Given the description of an element on the screen output the (x, y) to click on. 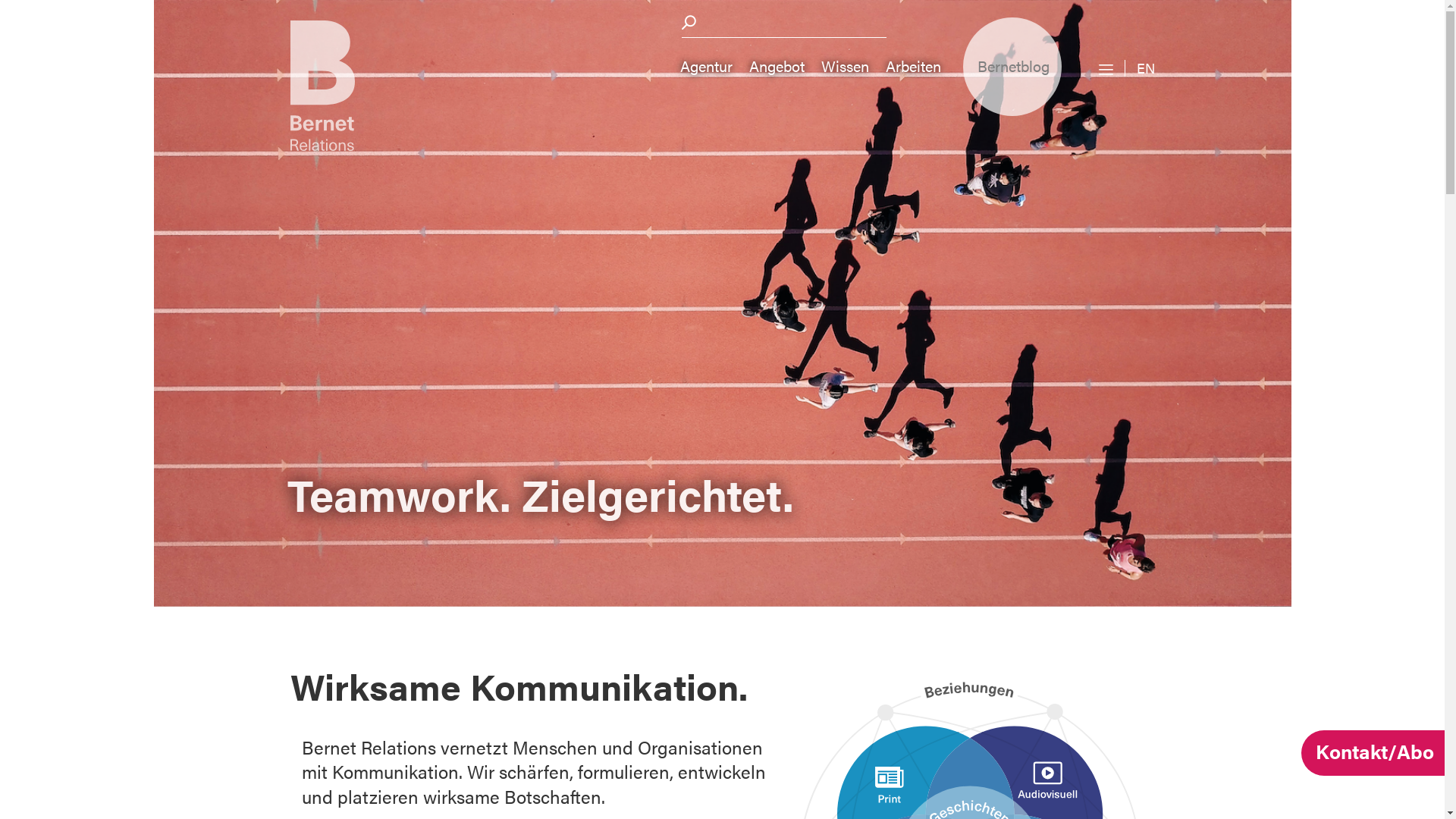
EN Element type: text (1144, 66)
Arbeiten Element type: text (912, 66)
Suchen Element type: text (687, 22)
Agentur Element type: text (705, 66)
Bernetblog Element type: text (1012, 66)
Kontakt/Abo Element type: text (1372, 752)
Wissen Element type: text (844, 66)
Angebot Element type: text (776, 66)
